Given the description of an element on the screen output the (x, y) to click on. 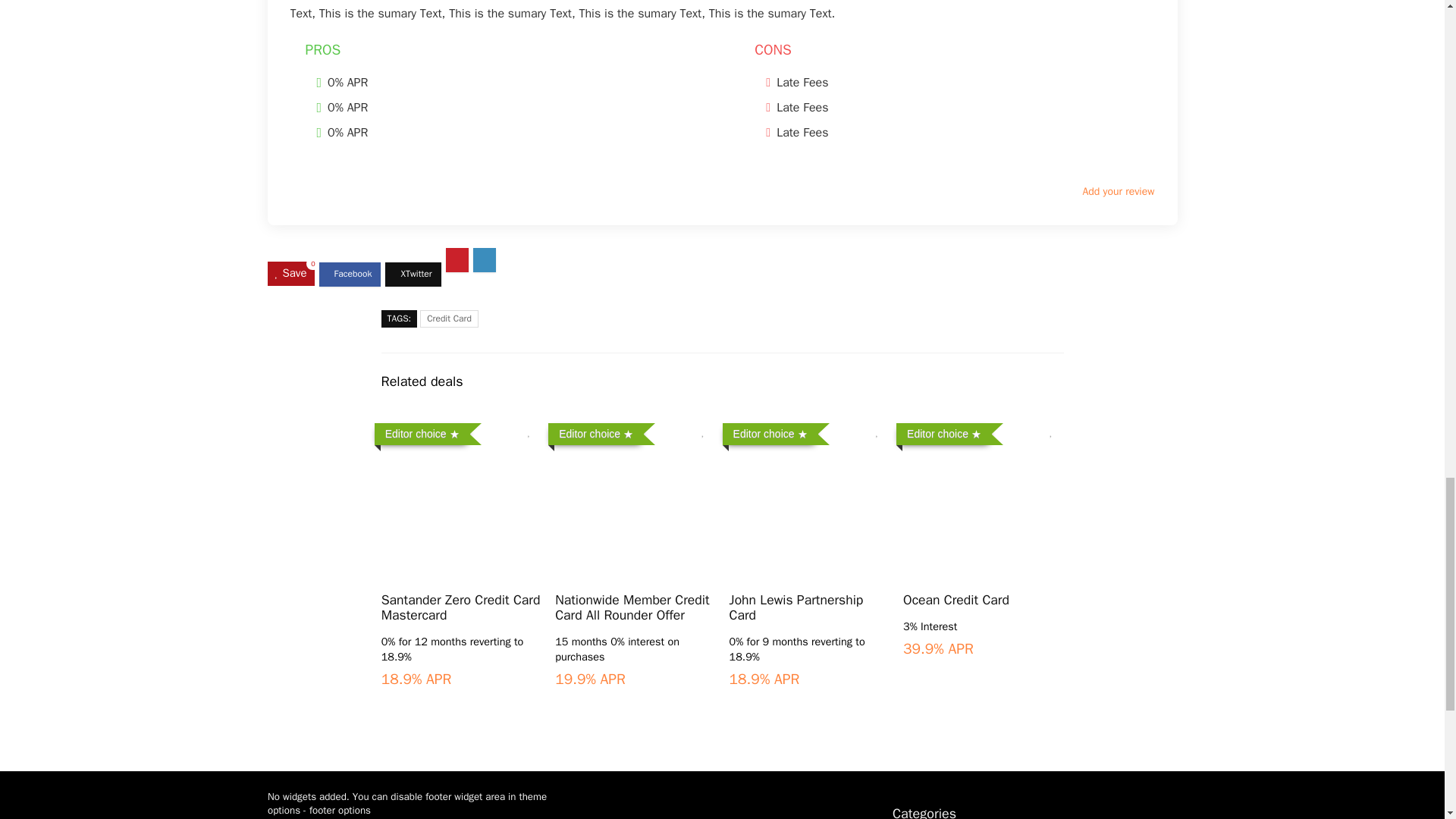
Add your review (1117, 191)
